Given the description of an element on the screen output the (x, y) to click on. 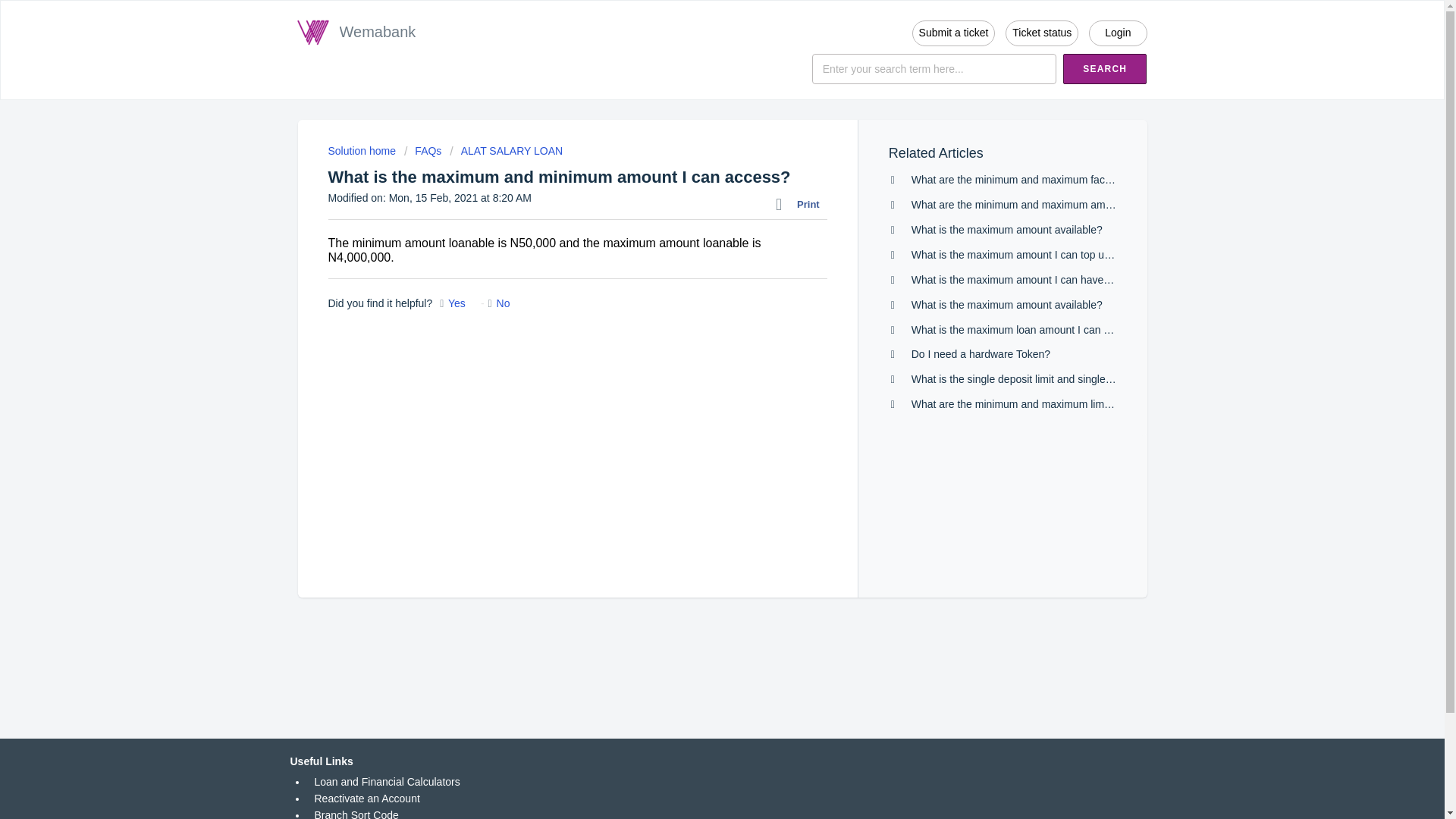
ALAT SALARY LOAN (505, 150)
Login (1118, 32)
FAQs (422, 150)
Loan and Financial Calculators (387, 781)
What are the minimum and maximum amount I can get? (1043, 204)
Print (801, 204)
What is the maximum amount I can have in my dollar account? (1059, 279)
Solution home (362, 150)
Reactivate an Account (366, 798)
What is the maximum amount I can top up with? (1024, 254)
Submit a ticket (953, 32)
SEARCH (1104, 69)
Branch Sort Code (355, 814)
